Given the description of an element on the screen output the (x, y) to click on. 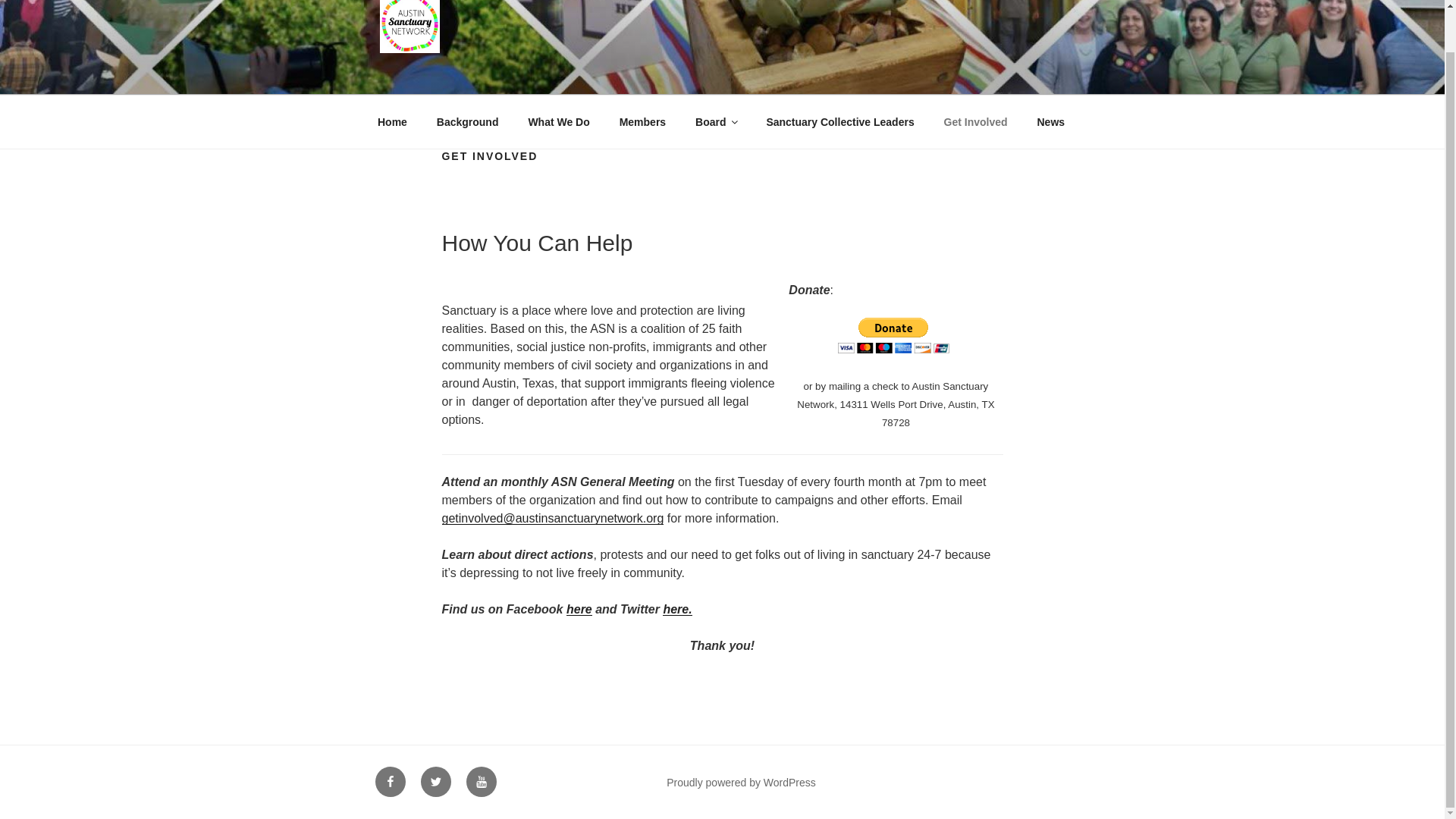
AUSTIN SANCTUARY NETWORK (618, 74)
Get Involved (975, 121)
News (1050, 121)
Members (641, 121)
Home (392, 121)
Proudly powered by WordPress (740, 782)
Sanctuary Collective Leaders (839, 121)
PayPal - The safer, easier way to pay online! (893, 334)
Facebook (389, 781)
Twitter (435, 781)
here. (676, 608)
here (579, 608)
Board (715, 121)
What We Do (558, 121)
YouTube (480, 781)
